Given the description of an element on the screen output the (x, y) to click on. 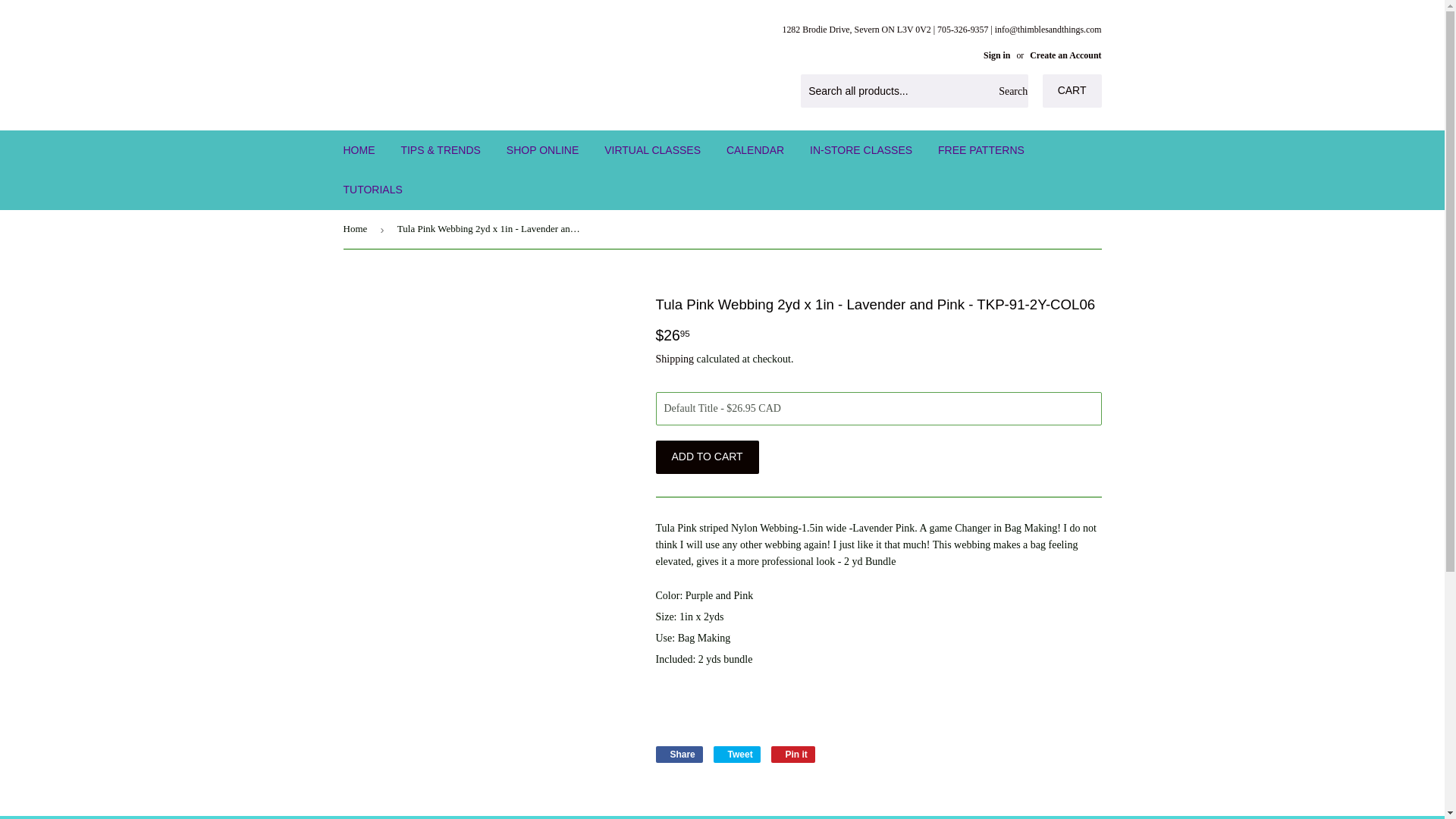
Tweet on Twitter (736, 754)
Sign in (997, 54)
Search (1010, 91)
Share on Facebook (678, 754)
Pin on Pinterest (793, 754)
Create an Account (1064, 54)
CART (1072, 90)
